Given the description of an element on the screen output the (x, y) to click on. 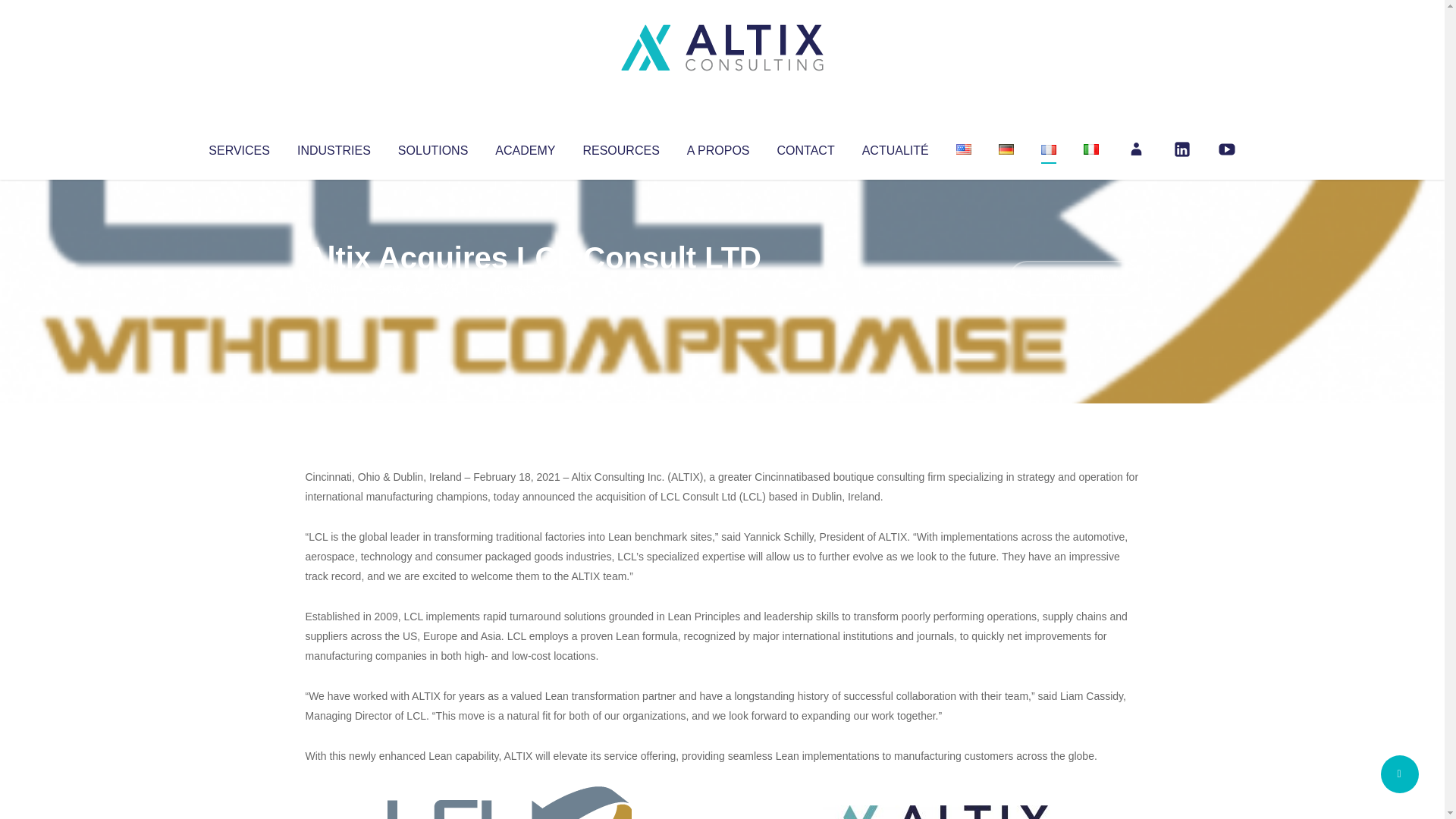
RESOURCES (620, 146)
No Comments (1073, 278)
A PROPOS (718, 146)
Altix (333, 287)
Articles par Altix (333, 287)
ACADEMY (524, 146)
INDUSTRIES (334, 146)
SERVICES (238, 146)
SOLUTIONS (432, 146)
Uncategorized (530, 287)
